Given the description of an element on the screen output the (x, y) to click on. 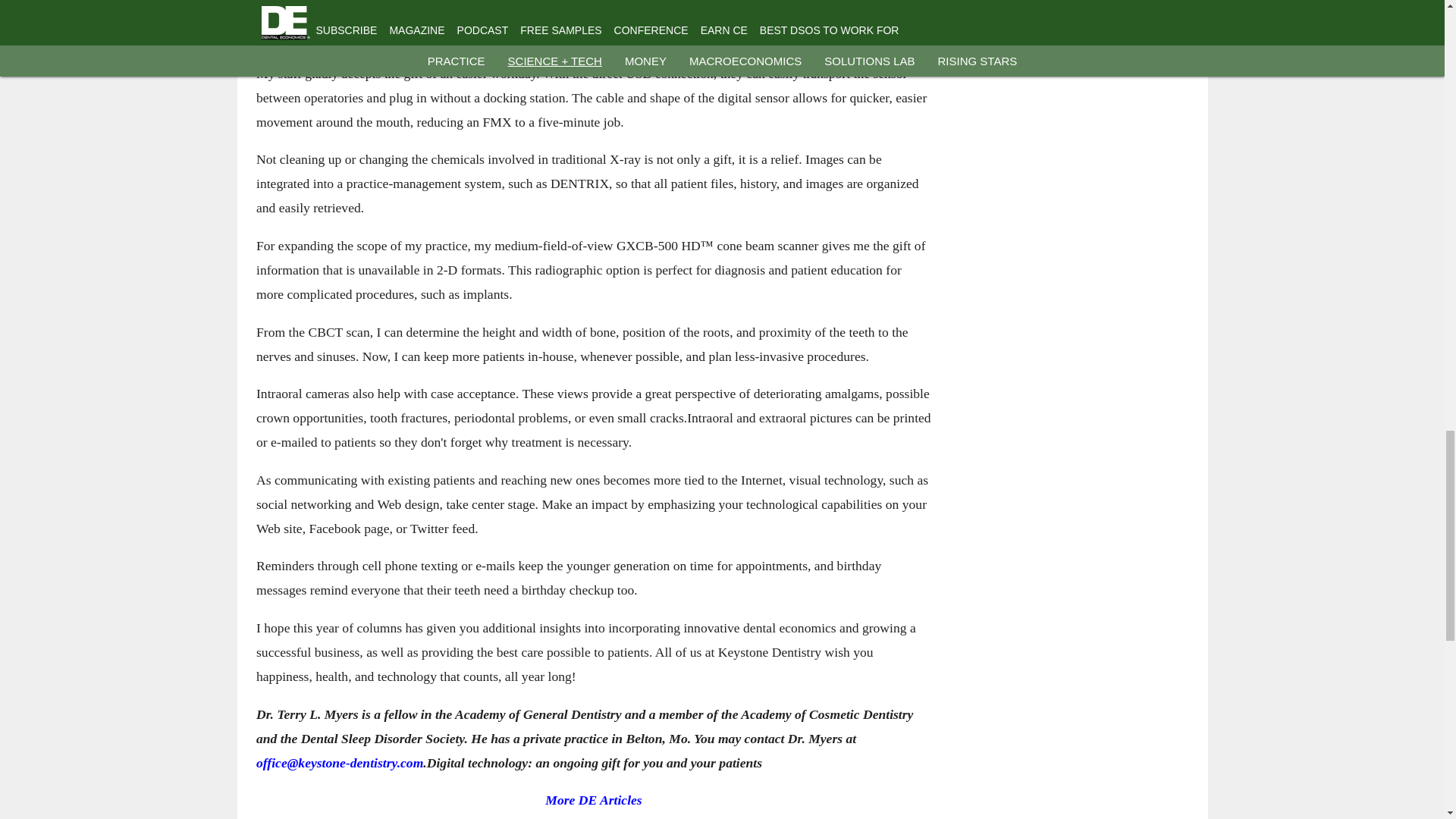
More DE Articles (593, 799)
Past DE Issues (593, 817)
